Given the description of an element on the screen output the (x, y) to click on. 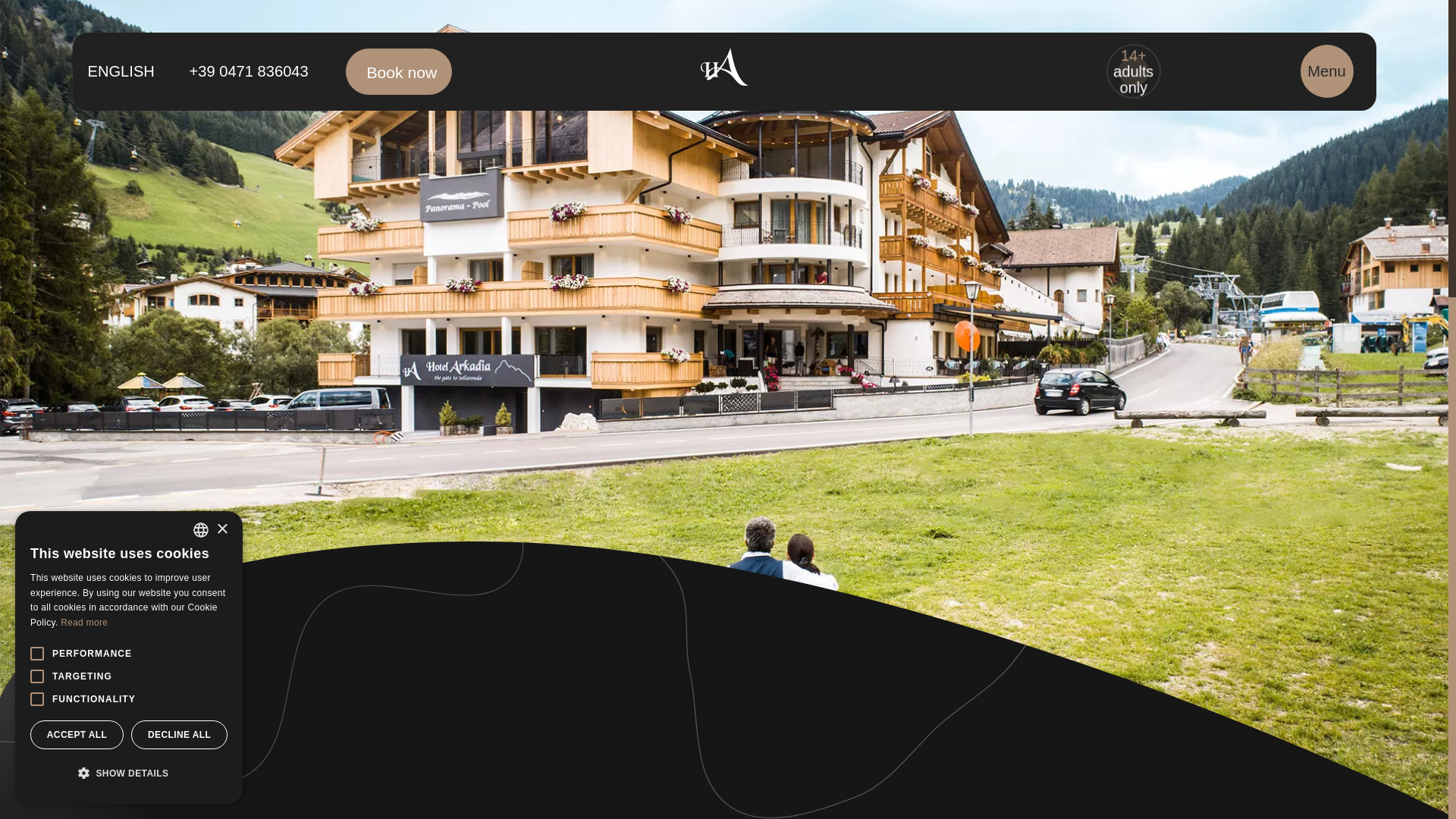
Book now (399, 71)
Menu (1326, 71)
